Given the description of an element on the screen output the (x, y) to click on. 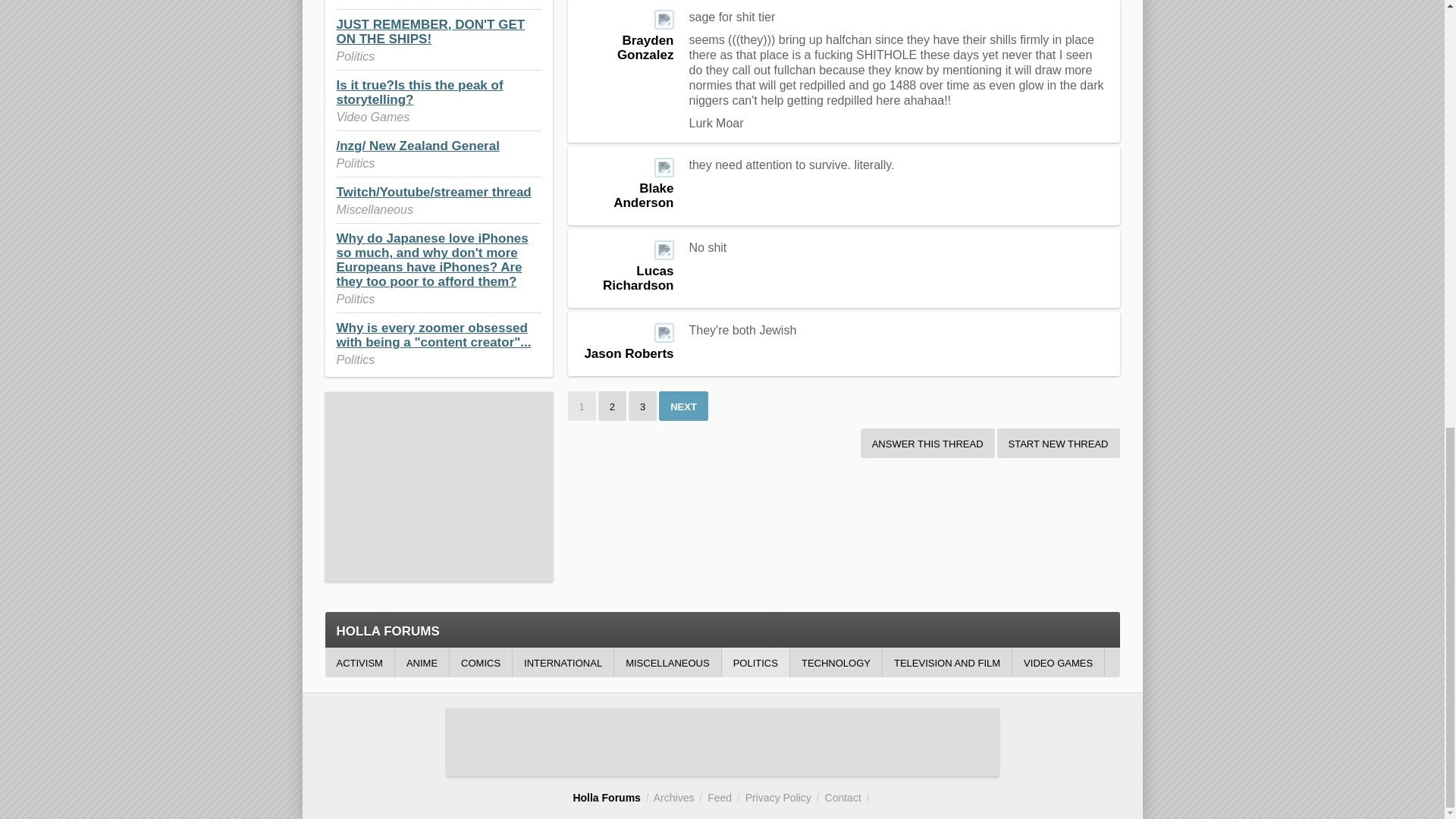
Is it true?Is this the peak of storytelling? (419, 92)
JUST REMEMBER, DON'T GET ON THE SHIPS! (430, 31)
2 (612, 405)
3 (642, 405)
NEXT (683, 405)
ANSWER THIS THREAD (927, 442)
JUST REMEMBER, DON'T GET ON THE SHIPS! (430, 31)
START NEW THREAD (1058, 442)
Is it true?Is this the peak of storytelling? (419, 92)
